Given the description of an element on the screen output the (x, y) to click on. 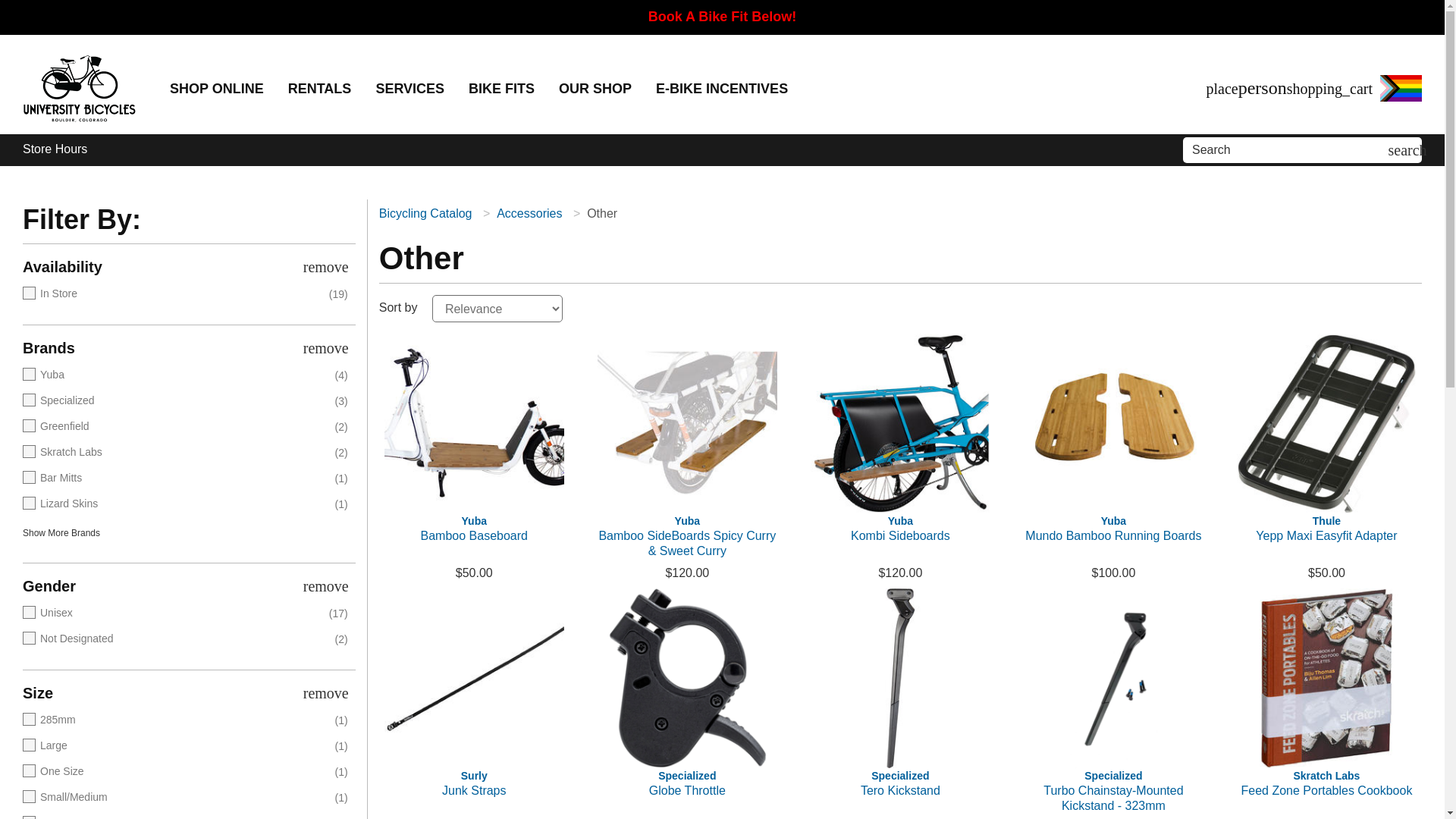
Search (1287, 149)
Yuba Bamboo Baseboard (474, 423)
SHOP ONLINE (216, 88)
Yuba Bamboo Baseboard (474, 535)
Store Hours (55, 149)
University Bicycles Home Page (79, 88)
